Given the description of an element on the screen output the (x, y) to click on. 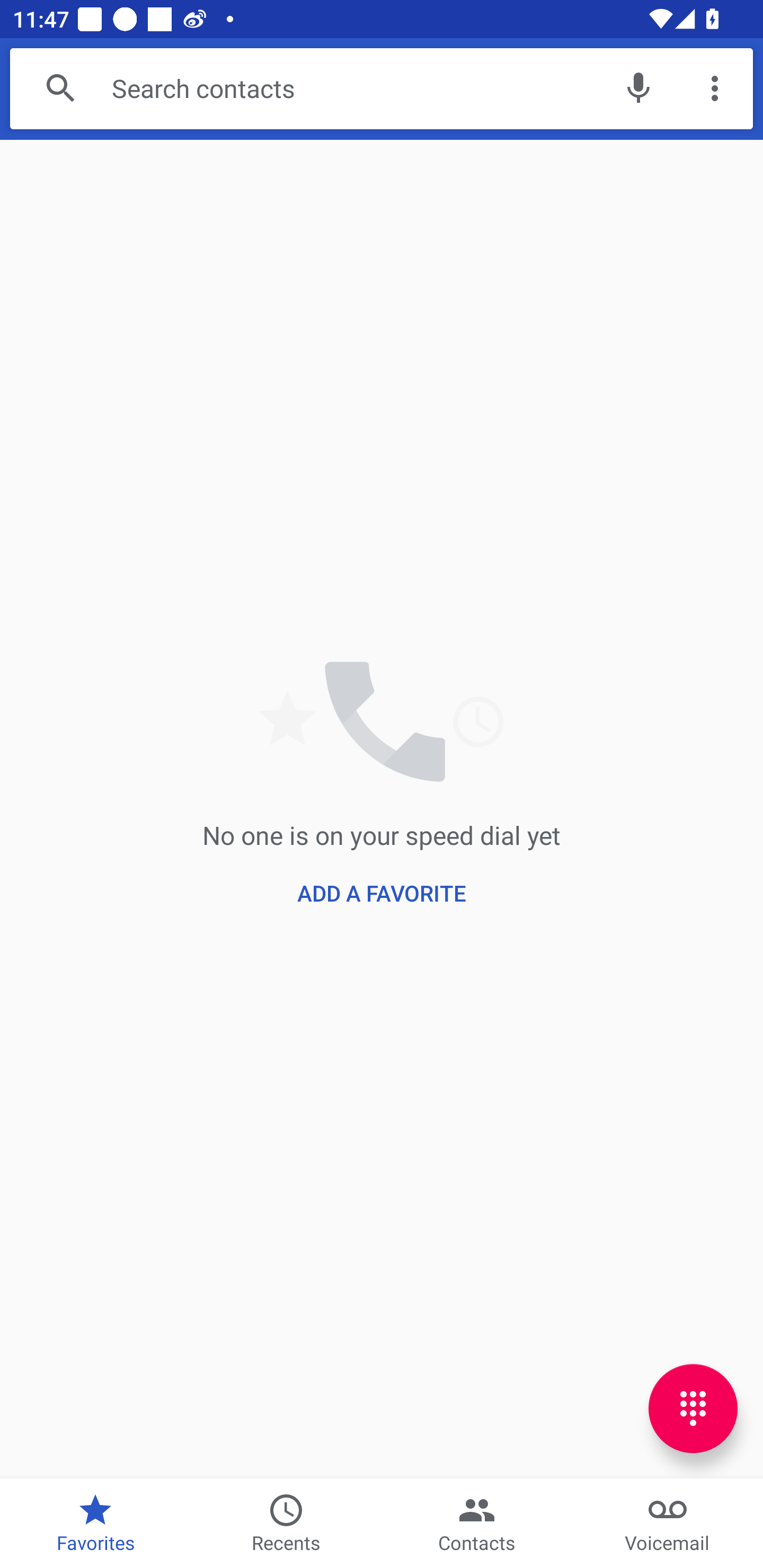
Search contacts Start voice search More options (381, 88)
Start voice search (638, 88)
More options (714, 88)
No one is on your speed dial yet ADD A FAVORITE (381, 808)
ADD A FAVORITE (380, 892)
key pad (692, 1408)
Favorites (95, 1523)
Recents (285, 1523)
Contacts (476, 1523)
Voicemail (667, 1523)
